Given the description of an element on the screen output the (x, y) to click on. 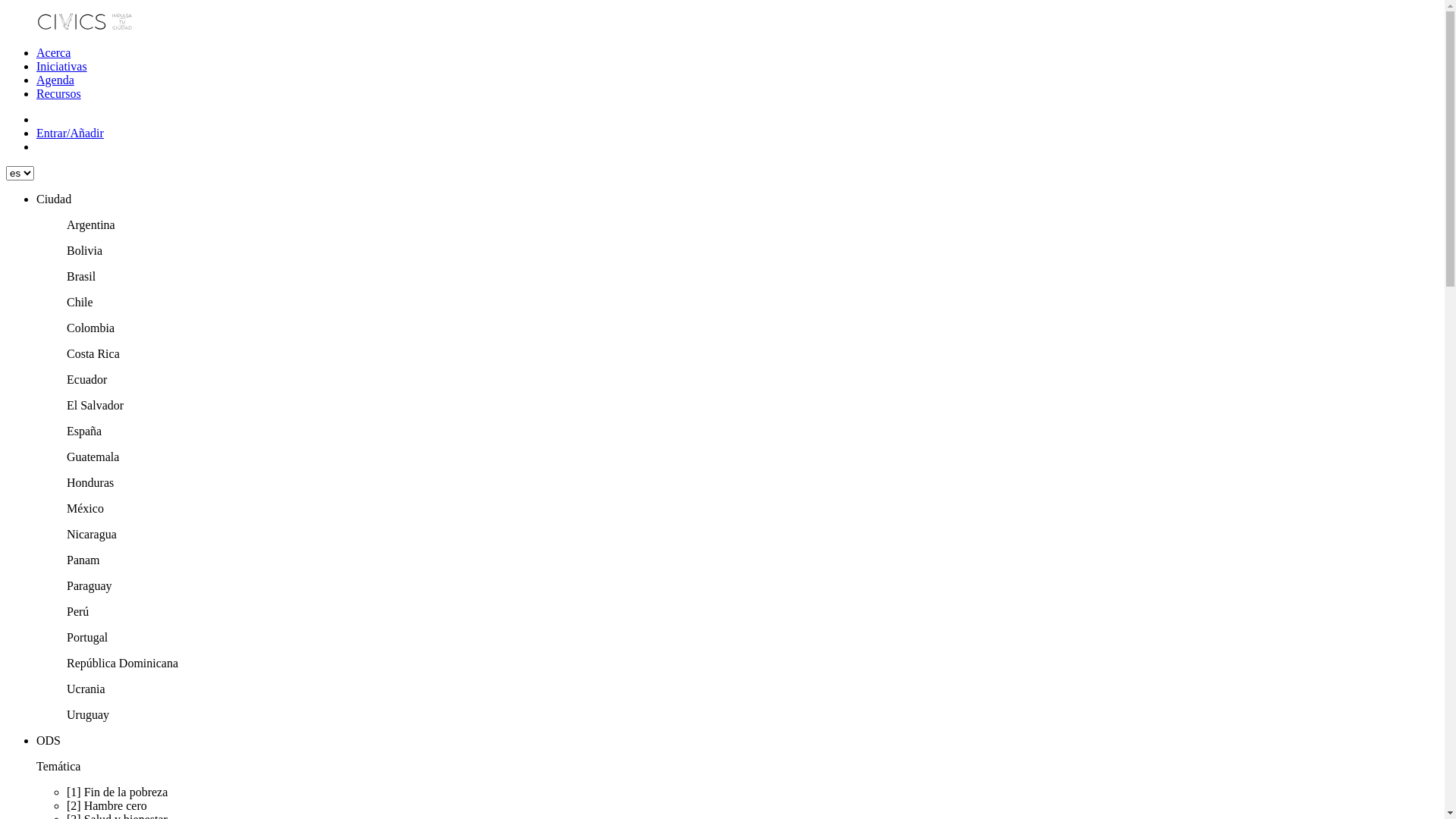
Agenda Element type: text (55, 79)
Acerca Element type: text (53, 52)
Iniciativas Element type: text (61, 65)
Ir a la pantalla de inicio Element type: hover (85, 26)
Recursos Element type: text (58, 93)
